Given the description of an element on the screen output the (x, y) to click on. 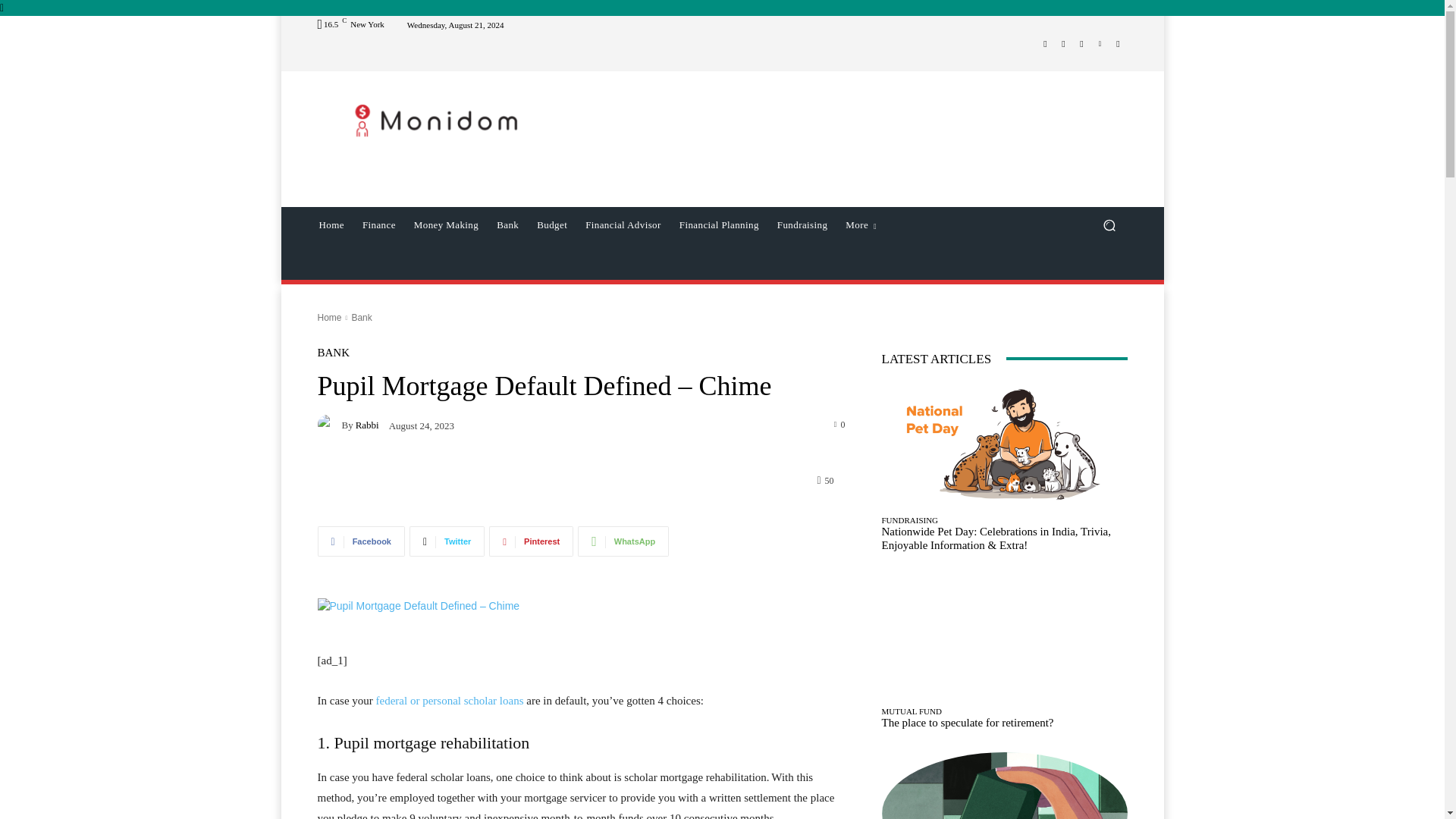
Instagram (1062, 44)
More (860, 225)
Financial Advisor (622, 225)
Home (330, 225)
View all posts in Bank (360, 317)
Bank (507, 225)
Financial Planning (718, 225)
Rabbi (328, 424)
Finance (378, 225)
Youtube (1117, 44)
